Given the description of an element on the screen output the (x, y) to click on. 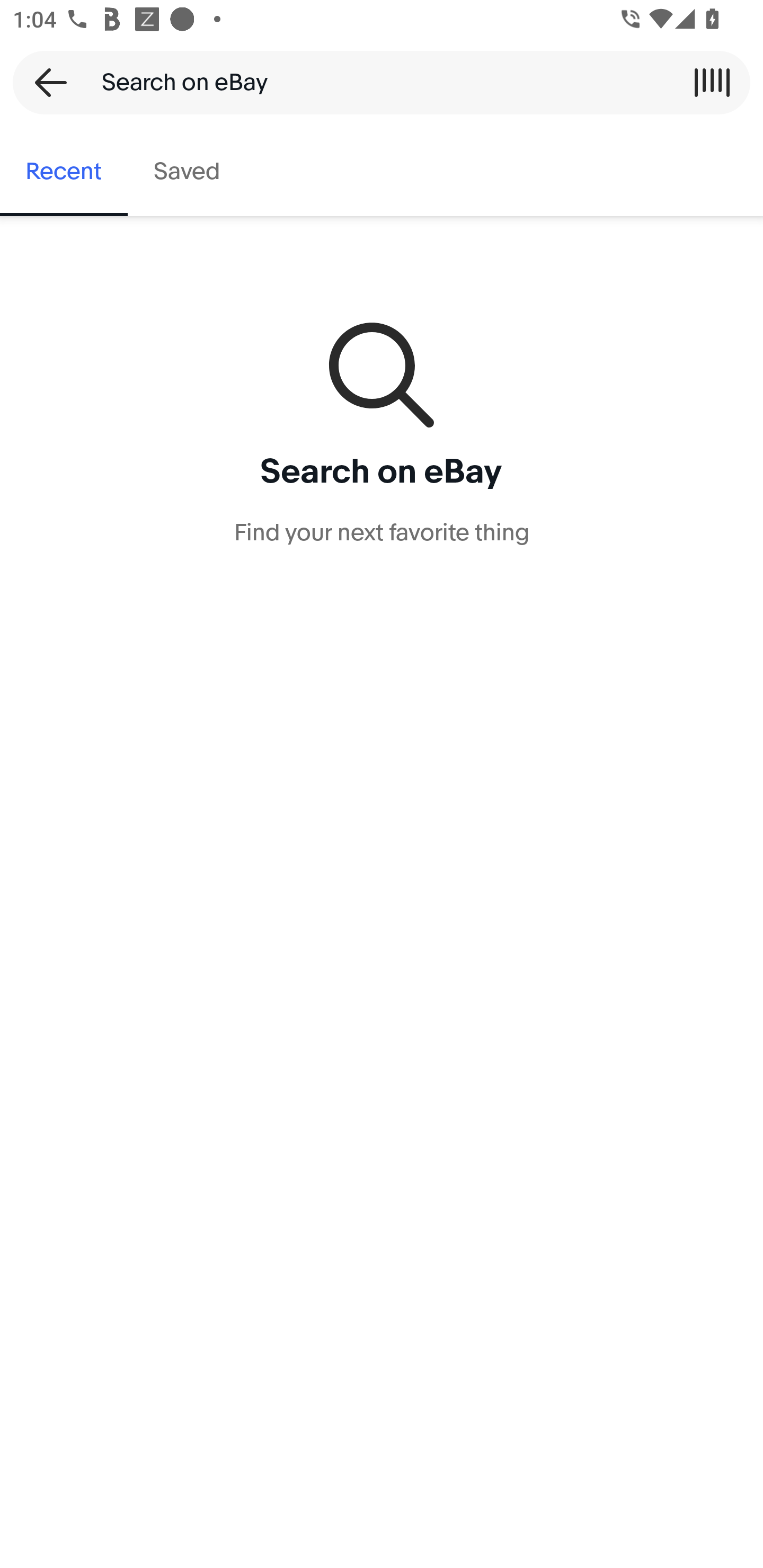
Back (44, 82)
Scan a barcode (711, 82)
Search on eBay (375, 82)
Saved, tab 2 of 2 Saved (186, 171)
